Given the description of an element on the screen output the (x, y) to click on. 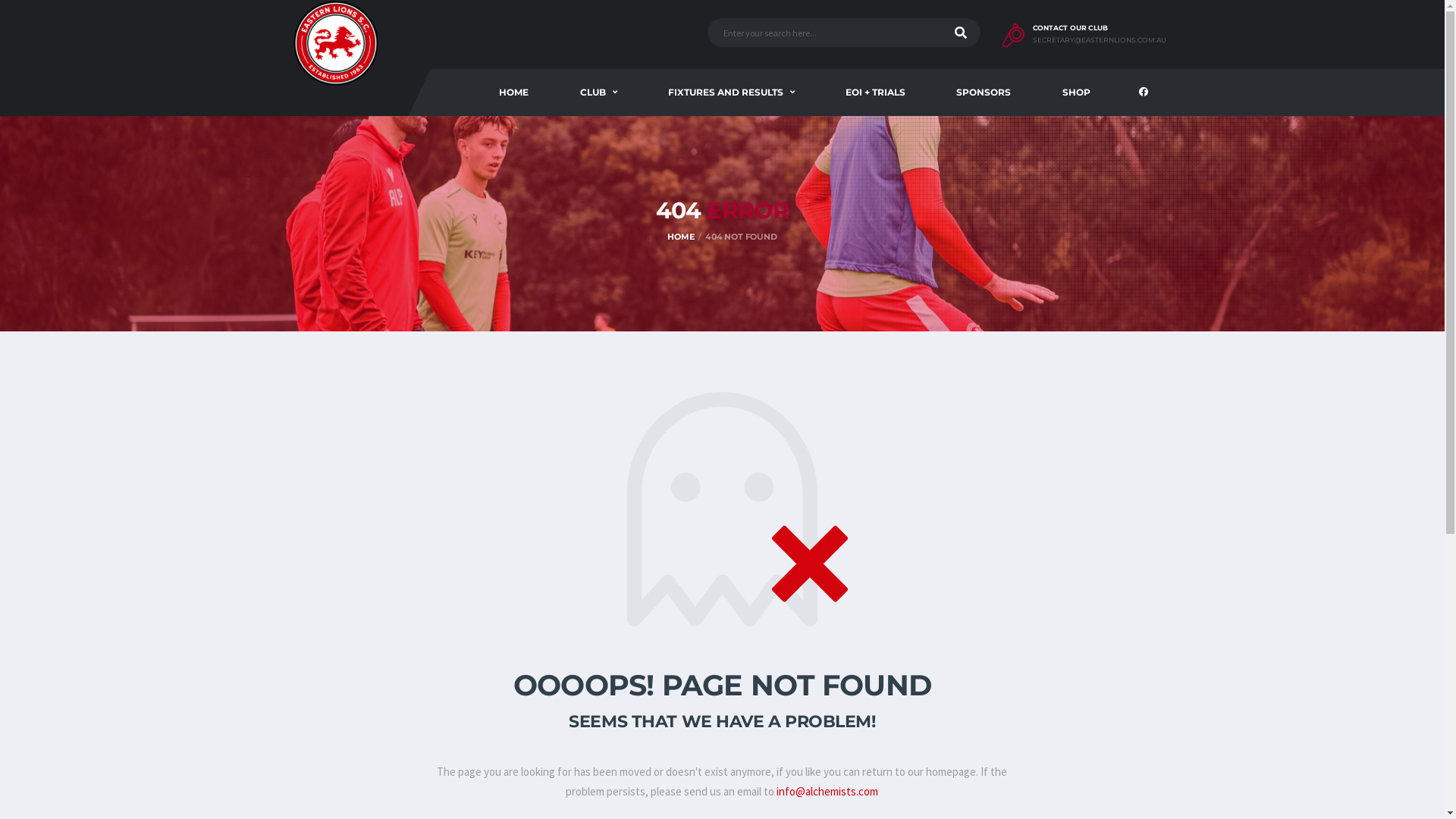
CLUB Element type: text (597, 92)
FIXTURES AND RESULTS Element type: text (731, 92)
SPONSORS Element type: text (983, 92)
HOME Element type: text (680, 236)
SECRETARY@EASTERNLIONS.COM.AU Element type: text (1099, 40)
EOI + TRIALS Element type: text (875, 92)
SHOP Element type: text (1075, 92)
HOME Element type: text (513, 92)
info@alchemists.com Element type: text (827, 791)
